Given the description of an element on the screen output the (x, y) to click on. 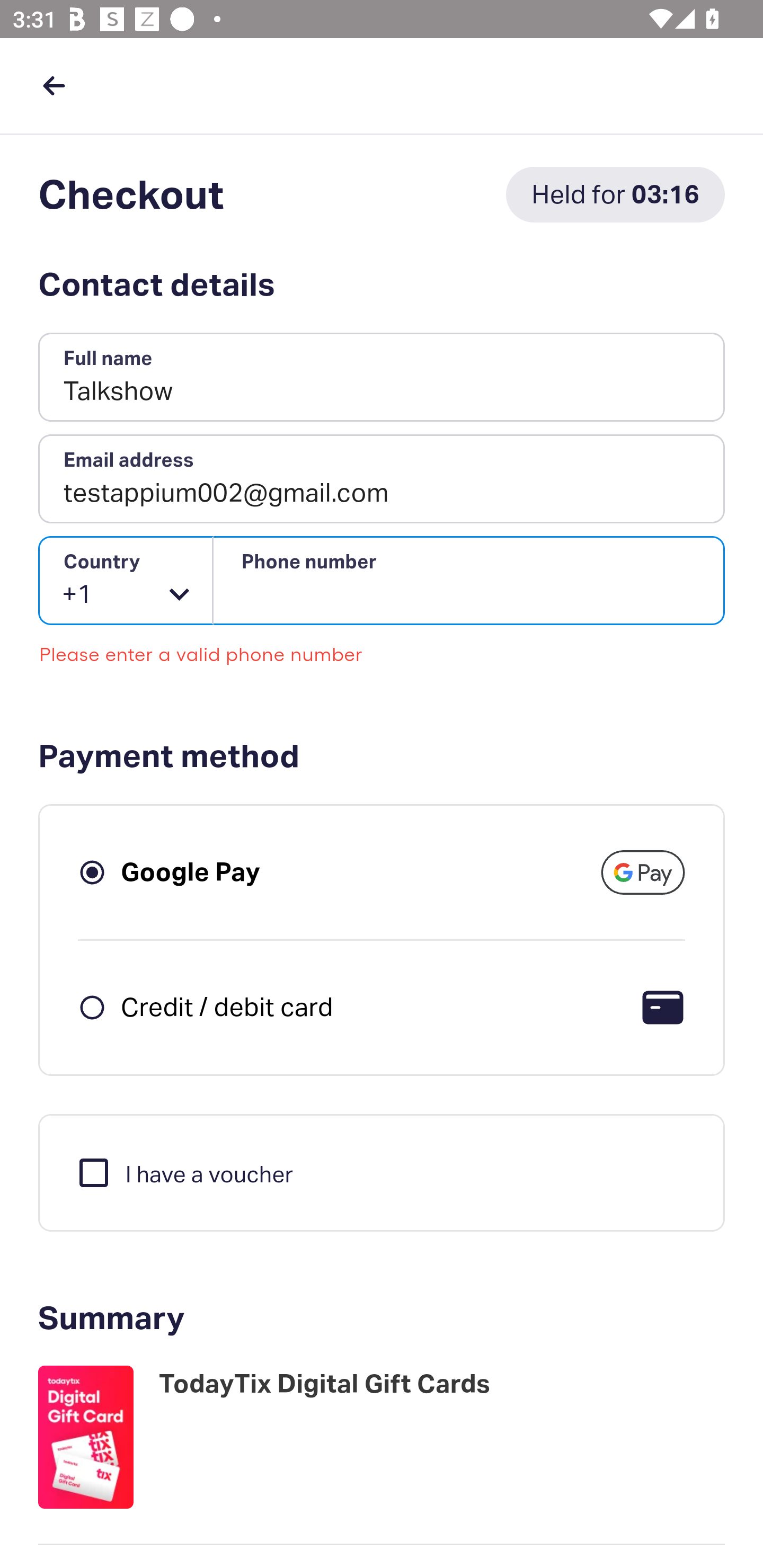
back button (53, 85)
Talkshow (381, 377)
testappium002@gmail.com (381, 478)
  +1 (126, 580)
Google Pay (190, 871)
Credit / debit card (227, 1006)
I have a voucher (183, 1171)
